Given the description of an element on the screen output the (x, y) to click on. 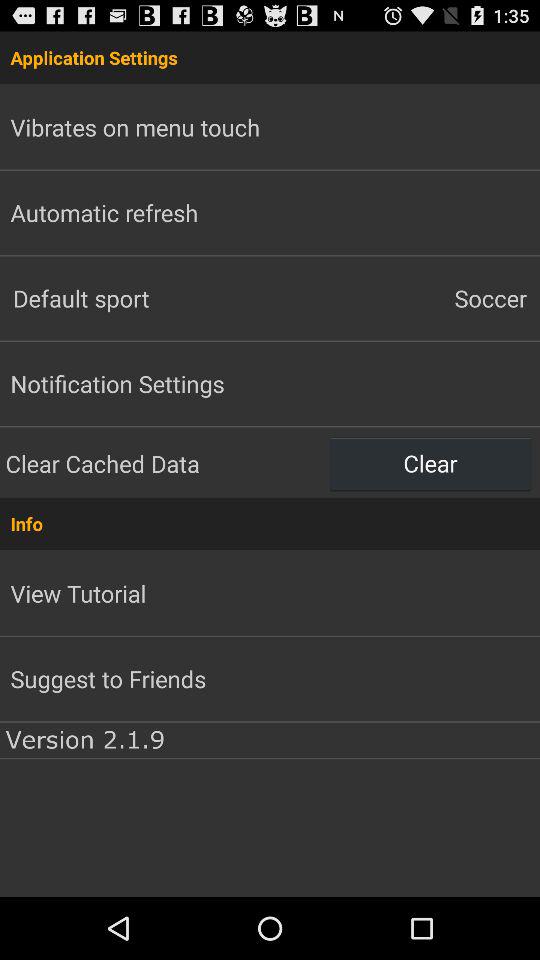
jump to the view tutorial app (78, 593)
